Given the description of an element on the screen output the (x, y) to click on. 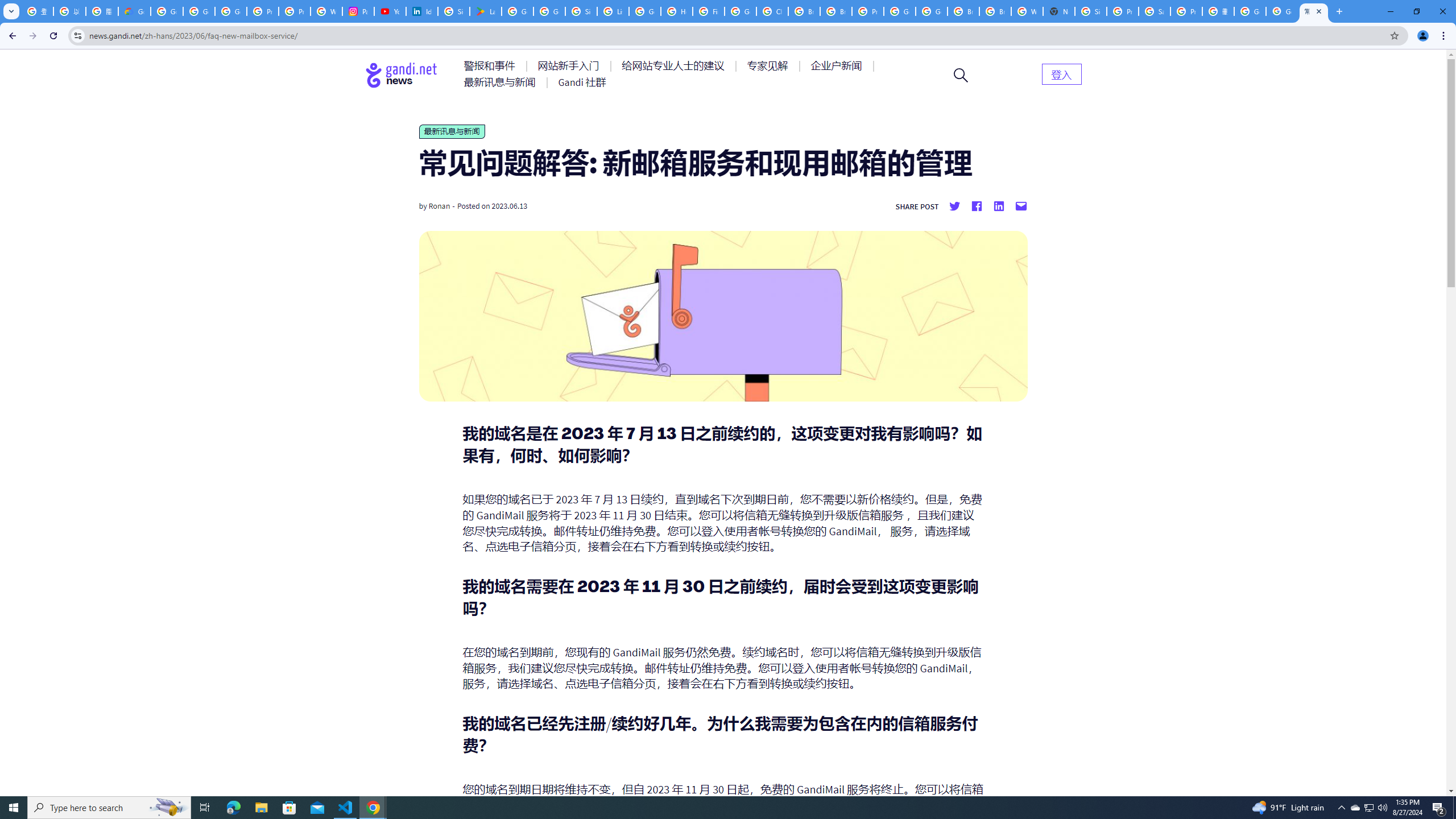
Google Workspace - Specific Terms (549, 11)
Browse Chrome as a guest - Computer - Google Chrome Help (995, 11)
Open search form (960, 74)
Sign in - Google Accounts (1091, 11)
Share on twitter (953, 205)
AutomationID: menu-item-77767 (581, 82)
Share on facebook (975, 205)
New Tab (1059, 11)
